Given the description of an element on the screen output the (x, y) to click on. 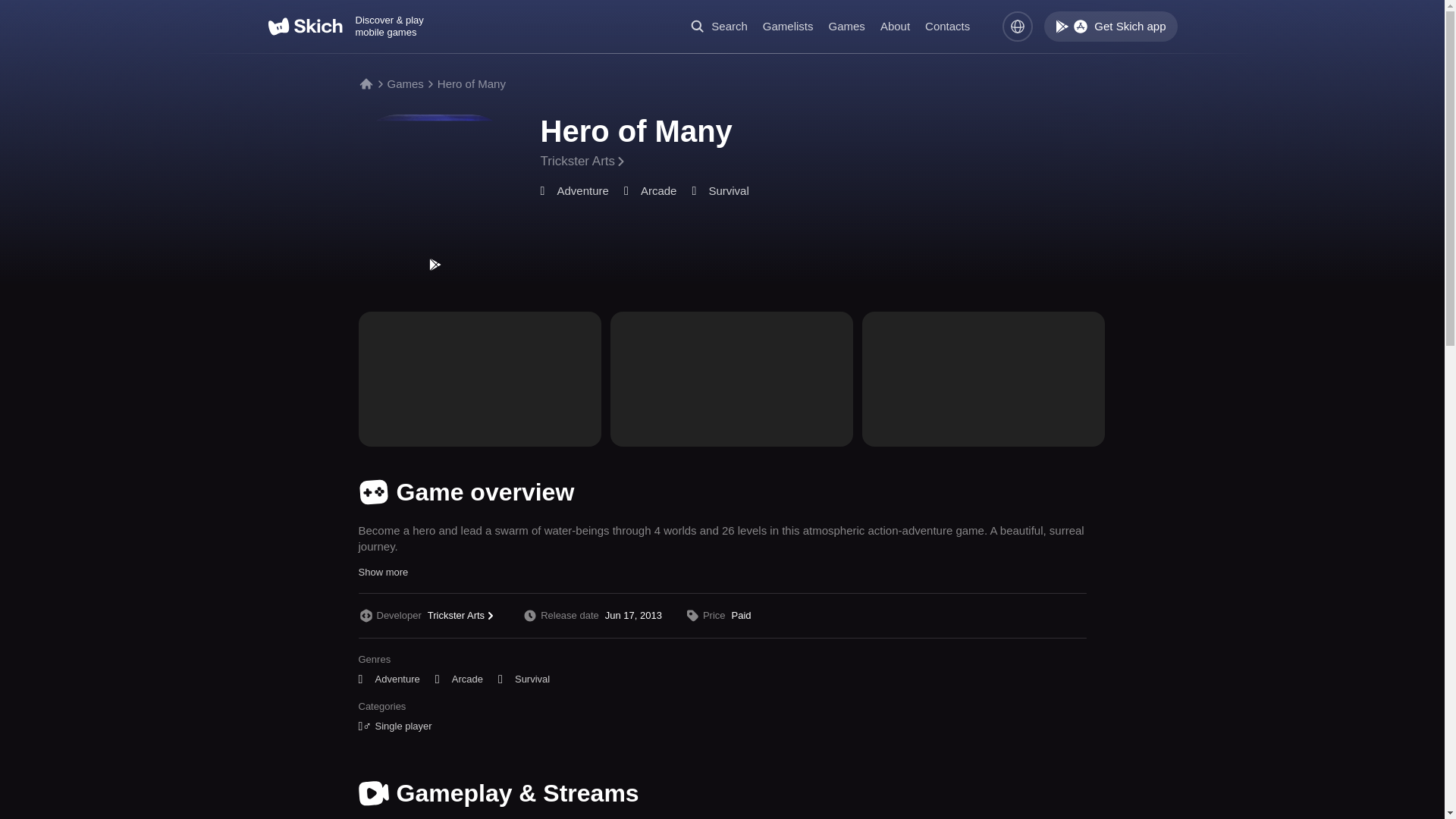
Search (719, 26)
Trickster Arts (583, 160)
Contacts (946, 26)
Games (846, 26)
Get Skich app (1109, 26)
Gamelists (787, 26)
Show more (382, 572)
About (895, 26)
Trickster Arts (463, 615)
Games (405, 83)
